Given the description of an element on the screen output the (x, y) to click on. 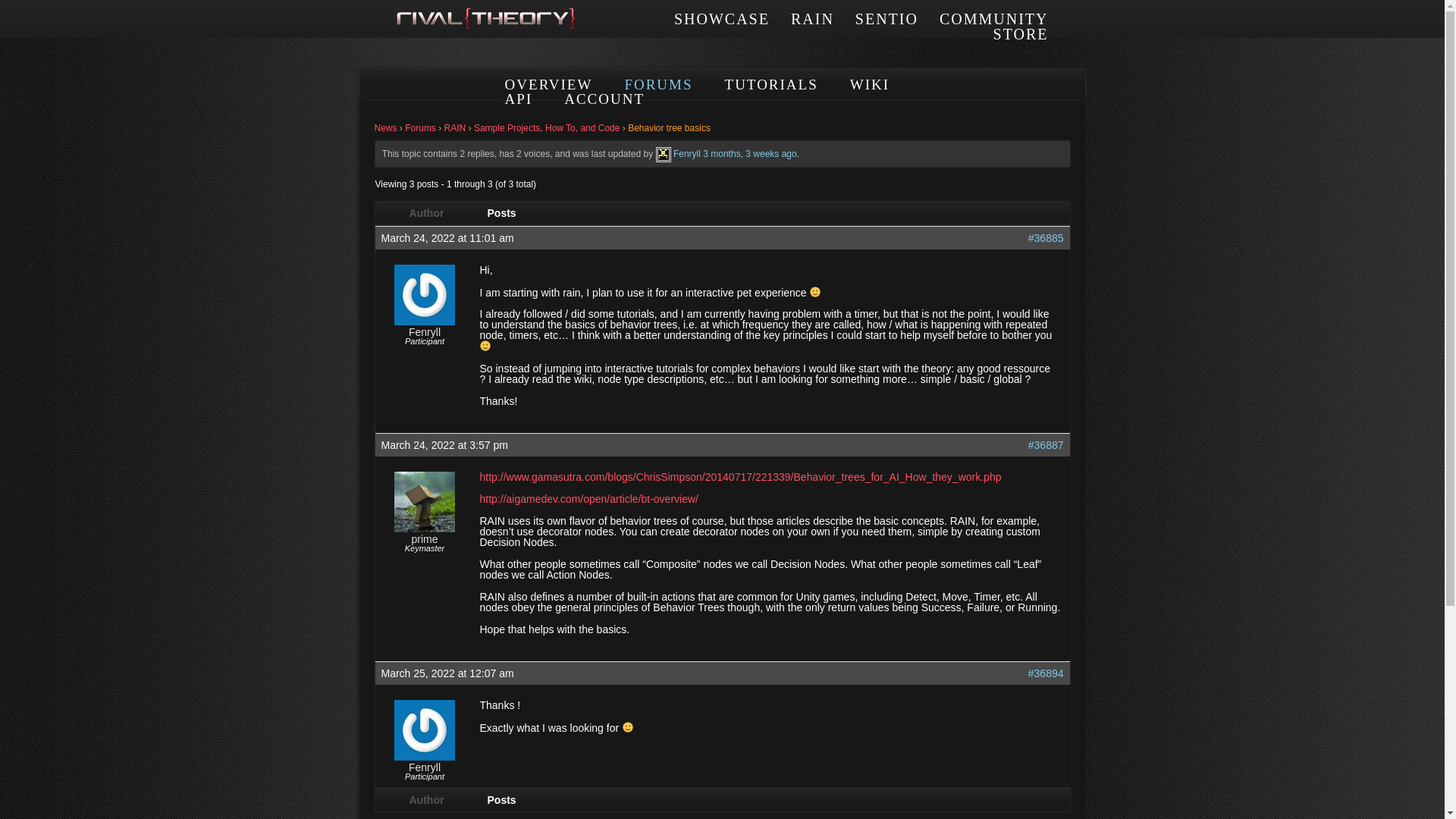
TUTORIALS (771, 84)
Reply To: Behavior tree basics (749, 153)
View Fenryll's profile (425, 767)
COMMUNITY (993, 18)
Fenryll (686, 153)
Fenryll (425, 767)
ACCOUNT (604, 98)
3 months, 3 weeks ago (749, 153)
Fenryll (425, 331)
View Fenryll's profile (663, 153)
SENTIO (887, 18)
Sample Projects, How To, and Code (547, 127)
prime (424, 538)
View Fenryll's profile (424, 756)
WIKI (869, 84)
